Given the description of an element on the screen output the (x, y) to click on. 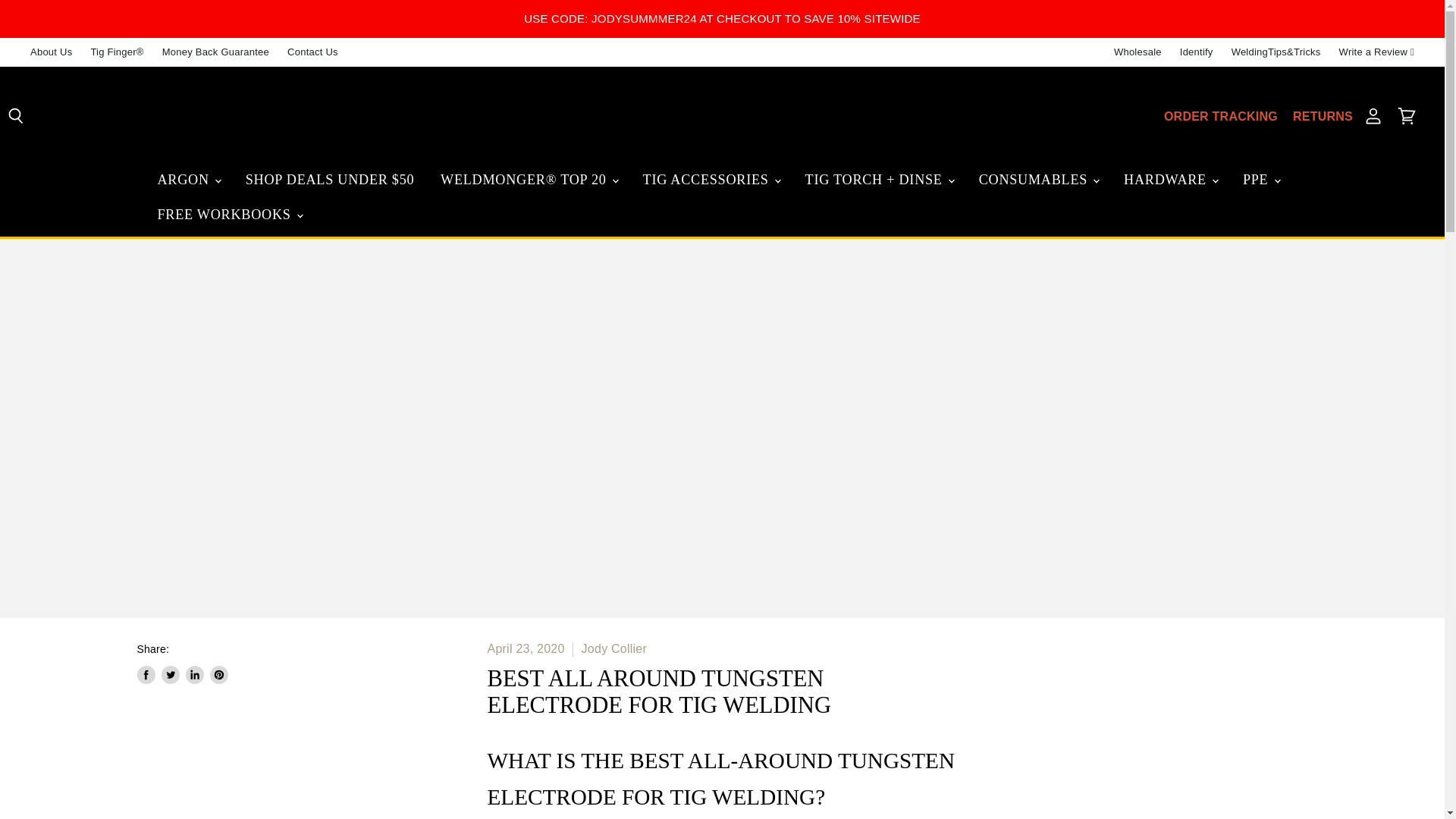
Identify (1195, 52)
View cart (1406, 116)
ORDER TRACKING (1220, 116)
Contact Us (311, 52)
RETURNS (1322, 116)
About Us (50, 52)
View account (1373, 116)
Search (16, 116)
Money Back Guarantee (215, 52)
ARGON (187, 183)
Wholesale (1137, 52)
